Given the description of an element on the screen output the (x, y) to click on. 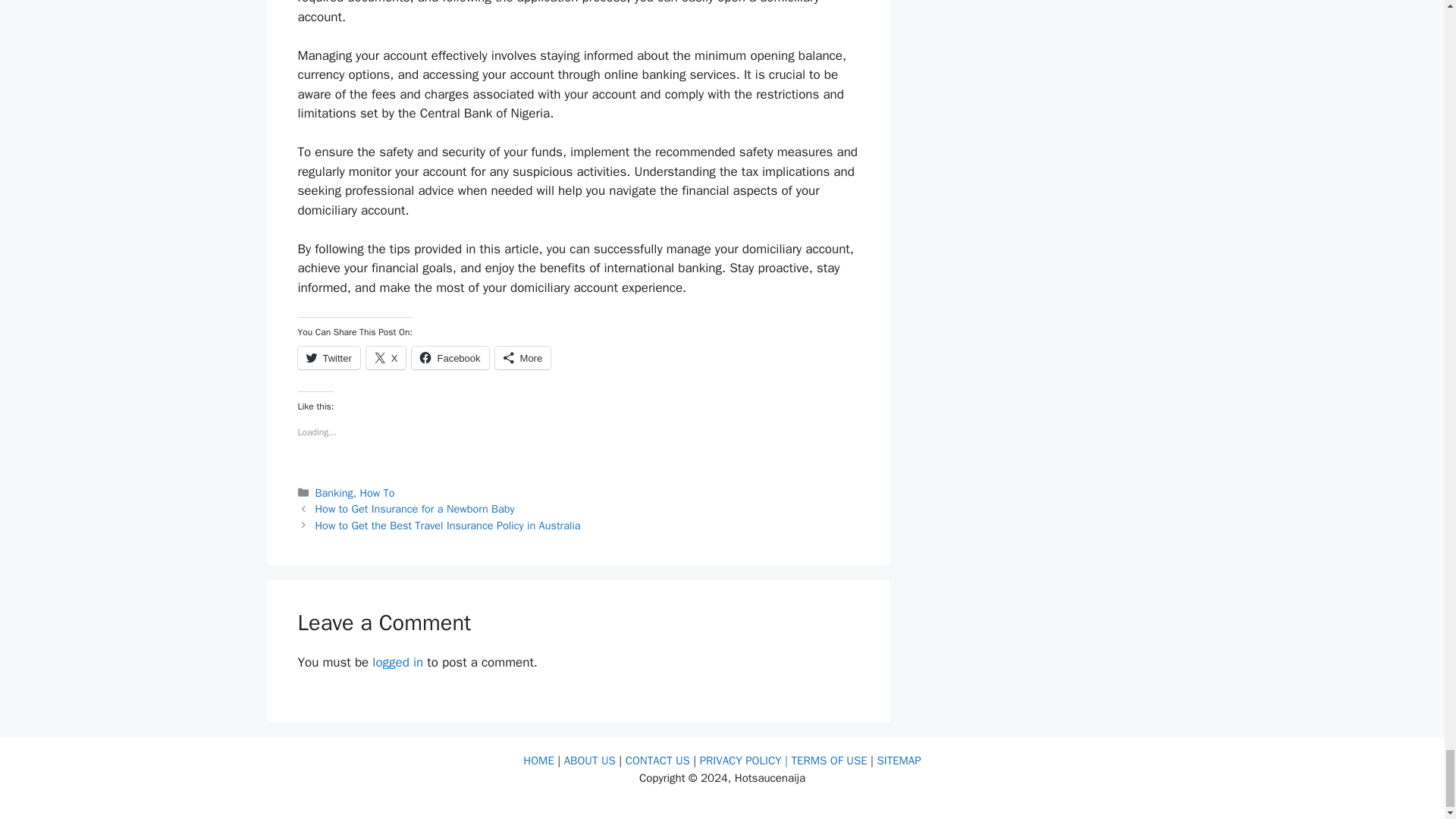
How to Get the Best Travel Insurance Policy in Australia (447, 525)
How To (376, 492)
How to Get Insurance for a Newborn Baby (415, 508)
TERMS OF USE (830, 760)
ABOUT US (592, 760)
Click to share on X (386, 357)
X (386, 357)
More (523, 357)
Facebook (449, 357)
SITEMAP (898, 760)
logged in (397, 662)
Click to share on Facebook (449, 357)
HOME (539, 760)
Banking (334, 492)
Click to share on Twitter (328, 357)
